Given the description of an element on the screen output the (x, y) to click on. 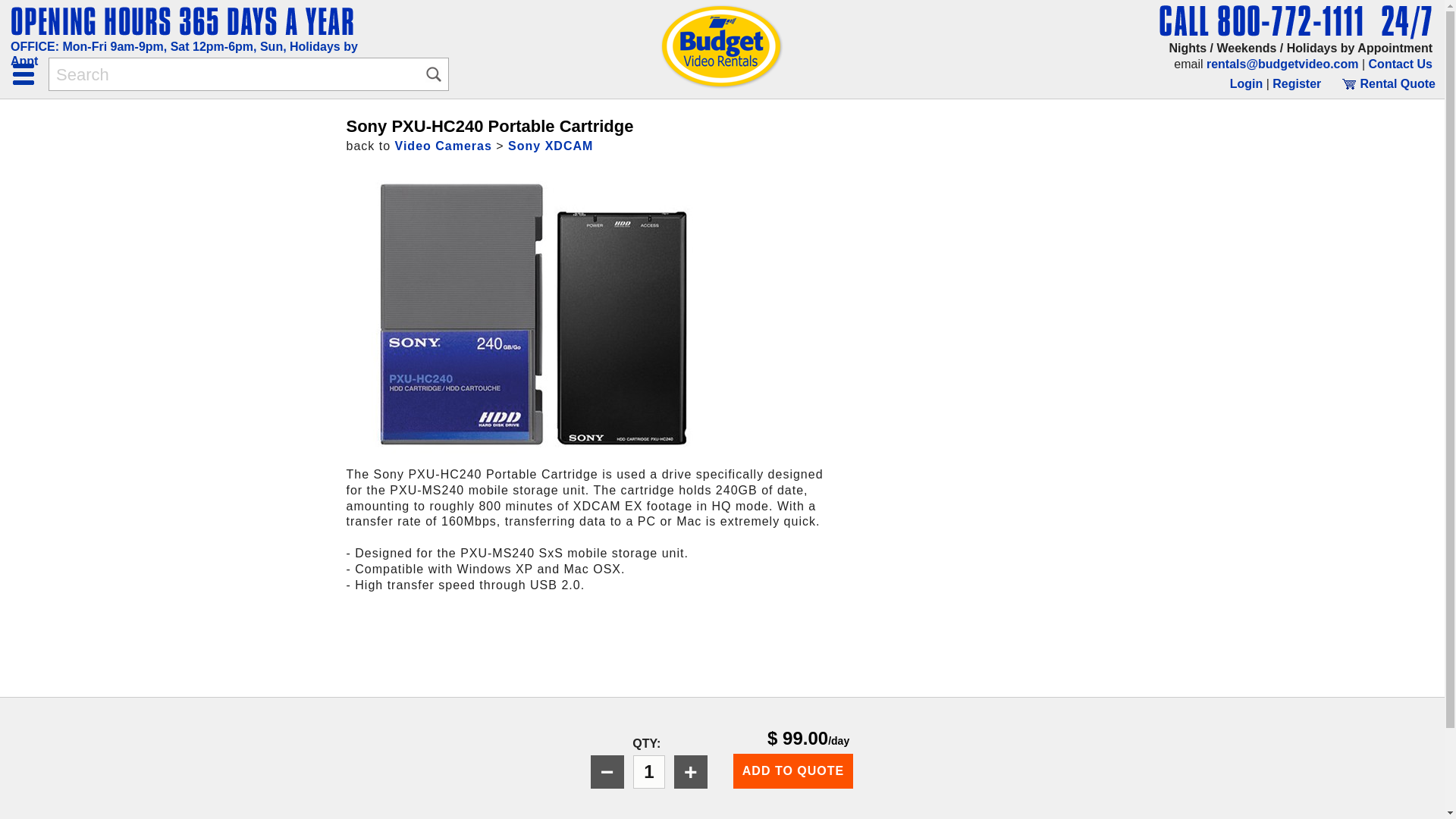
Professional Audio, Grip, and Lighting Equipment Rentals (189, 21)
Login (1246, 83)
Contact Us (1400, 63)
Professional Video Cameras and Lens Rentals - Miami, Florida (1292, 21)
Video Cameras (443, 145)
Sony XDCAM (550, 145)
Budget Video Rentals - Miami, Florida (721, 47)
Rental Quote (1387, 83)
1 (649, 771)
OFFICE: Mon-Fri 9am-9pm, Sat 12pm-6pm, Sun, Holidays by Appt (184, 53)
ADD TO QUOTE (793, 770)
Register (1296, 83)
